Given the description of an element on the screen output the (x, y) to click on. 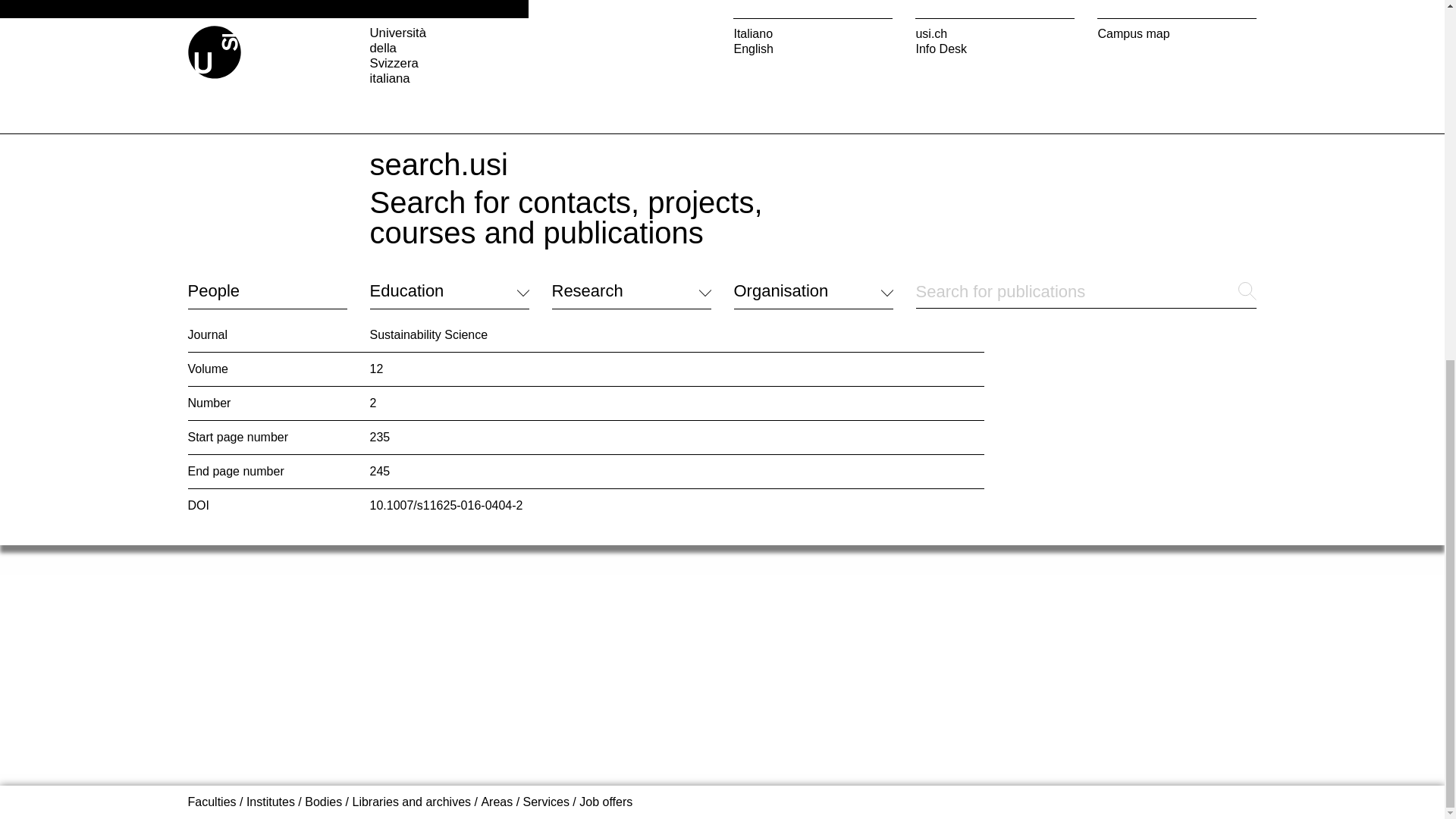
Annual Report (771, 48)
Subscribe (760, 66)
Lugano Campus (595, 5)
Feedback on the website (255, 88)
Mendrisio Campus (601, 22)
Newsletter (761, 30)
Bellinzona Campus (603, 41)
Disclaimer (579, 123)
Other contacts (226, 69)
Credits (638, 123)
